Given the description of an element on the screen output the (x, y) to click on. 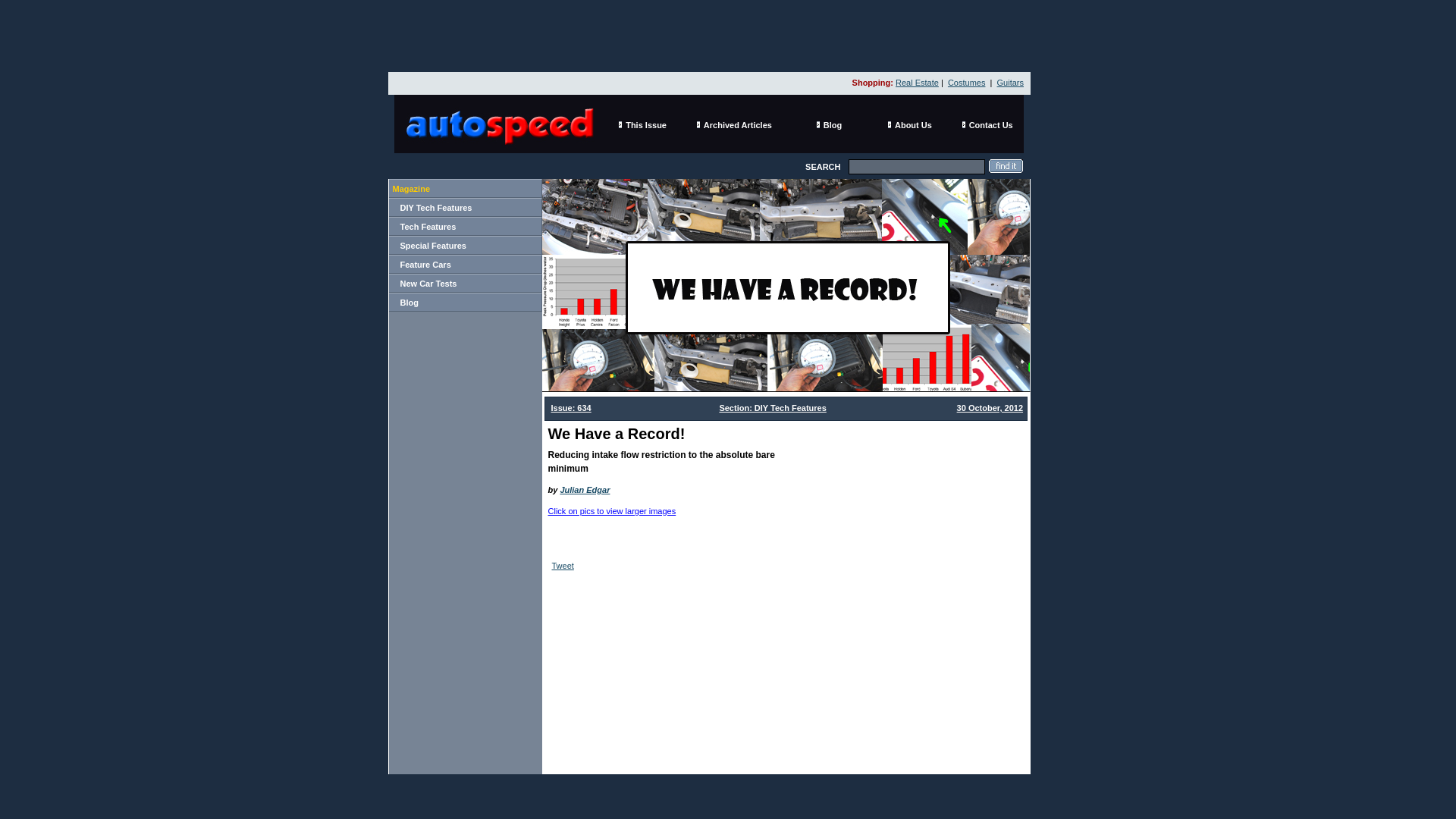
New Car Tests (428, 283)
Issue: 634 (570, 407)
Costumes (966, 81)
Archived Articles (737, 124)
Contact Us (991, 124)
Section: DIY Tech Features (772, 407)
Magazine (411, 187)
Guitars (1010, 81)
Guitars (1010, 81)
Tweet (562, 565)
About Us (913, 124)
Real Estate News (917, 81)
Blog (409, 301)
Julian Edgar (584, 489)
Real Estate (917, 81)
